Given the description of an element on the screen output the (x, y) to click on. 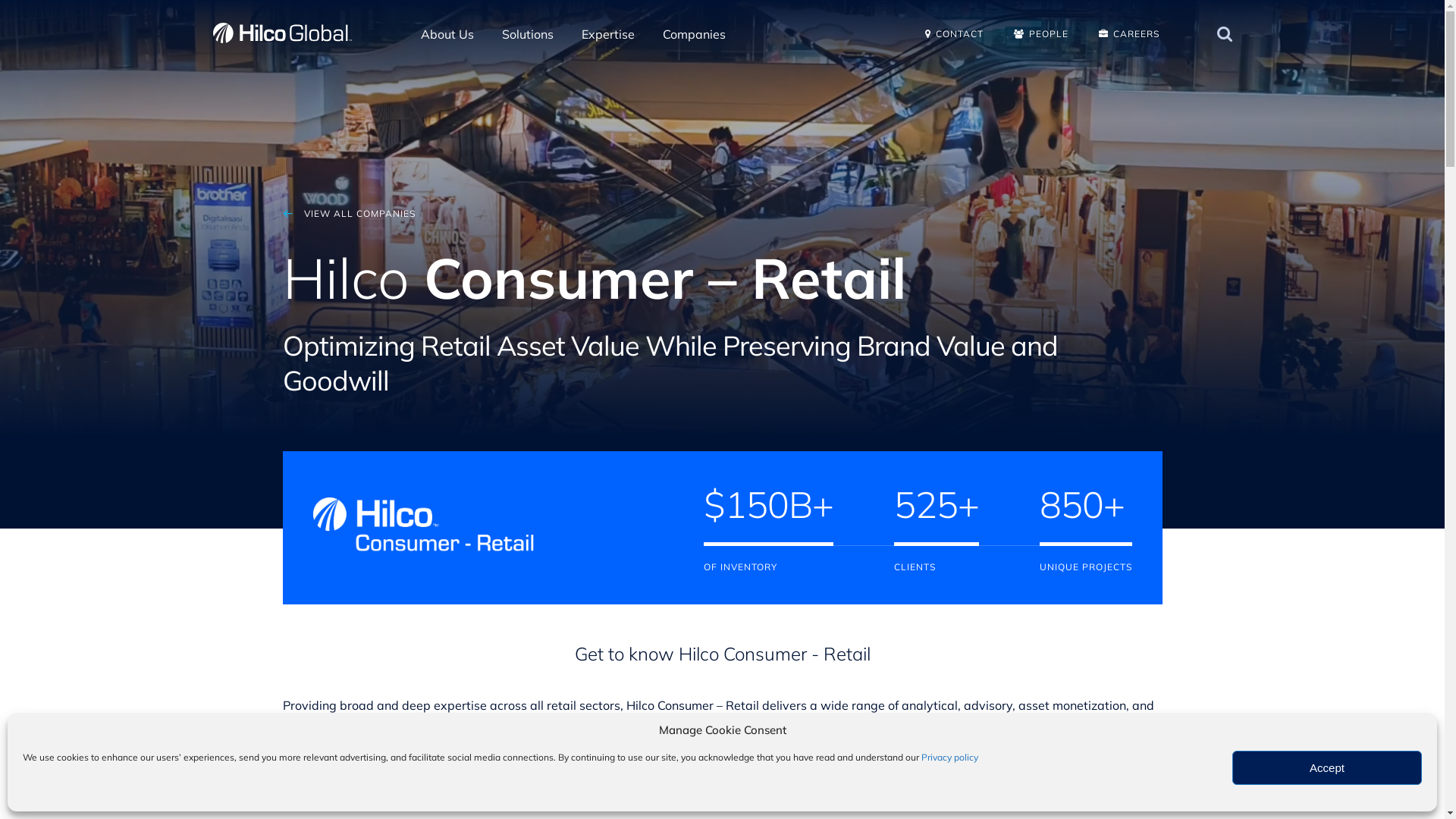
Hilco Global Element type: text (281, 33)
CAREERS Element type: text (1128, 33)
Companies Element type: text (693, 48)
About Us Element type: text (446, 48)
Search Element type: text (1223, 32)
Accept Element type: text (1326, 767)
VIEW ALL COMPANIES Element type: text (348, 213)
PEOPLE Element type: text (1040, 33)
Solutions Element type: text (527, 48)
CONTACT Element type: text (954, 33)
Privacy policy Element type: text (949, 756)
Expertise Element type: text (607, 48)
